Given the description of an element on the screen output the (x, y) to click on. 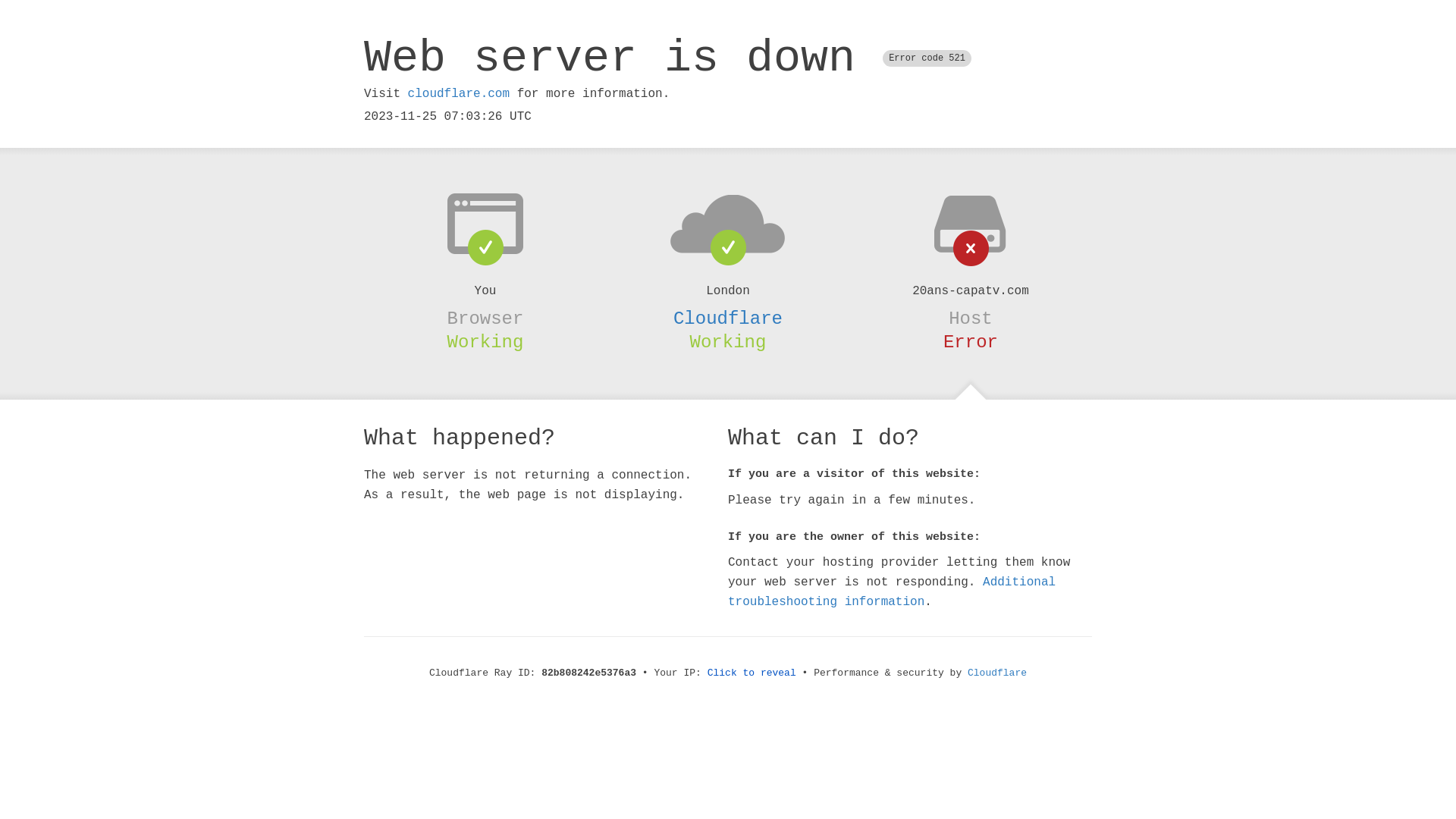
Cloudflare Element type: text (727, 318)
Cloudflare Element type: text (996, 672)
Additional troubleshooting information Element type: text (891, 591)
cloudflare.com Element type: text (458, 93)
Click to reveal Element type: text (751, 672)
